Given the description of an element on the screen output the (x, y) to click on. 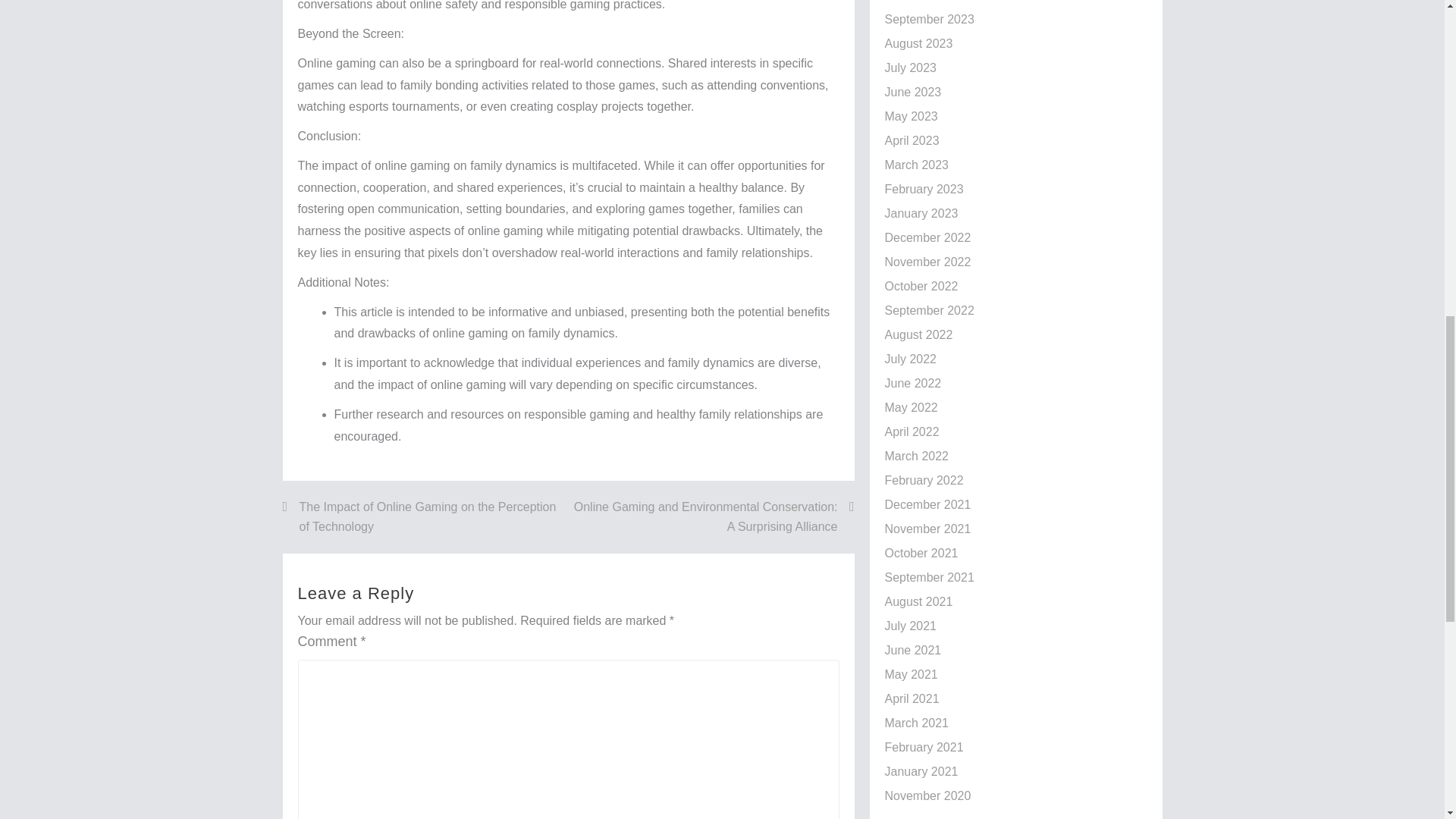
The Impact of Online Gaming on the Perception of Technology (424, 516)
August 2023 (917, 42)
April 2023 (911, 140)
October 2023 (920, 0)
March 2023 (916, 164)
May 2023 (910, 115)
July 2023 (909, 67)
September 2023 (928, 19)
June 2023 (911, 91)
